Given the description of an element on the screen output the (x, y) to click on. 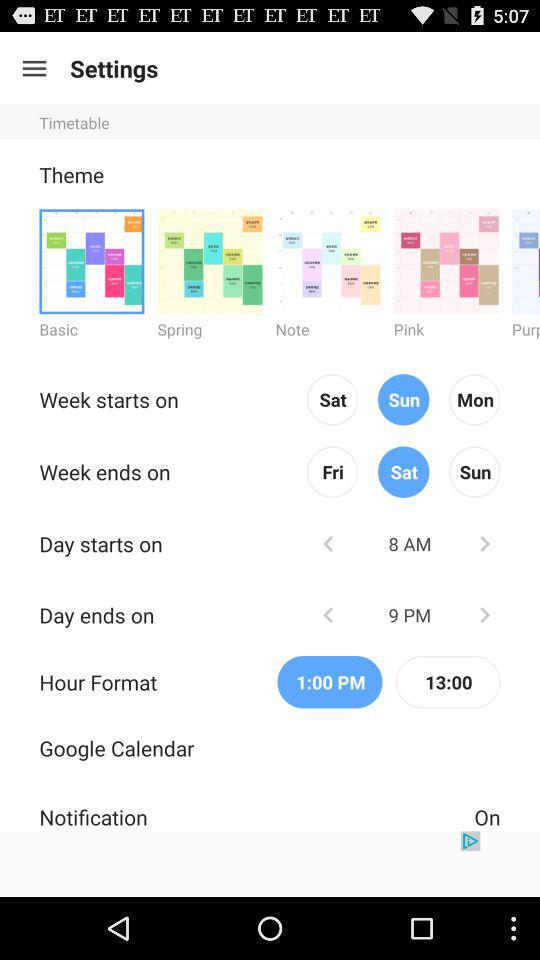
select note (327, 260)
